Given the description of an element on the screen output the (x, y) to click on. 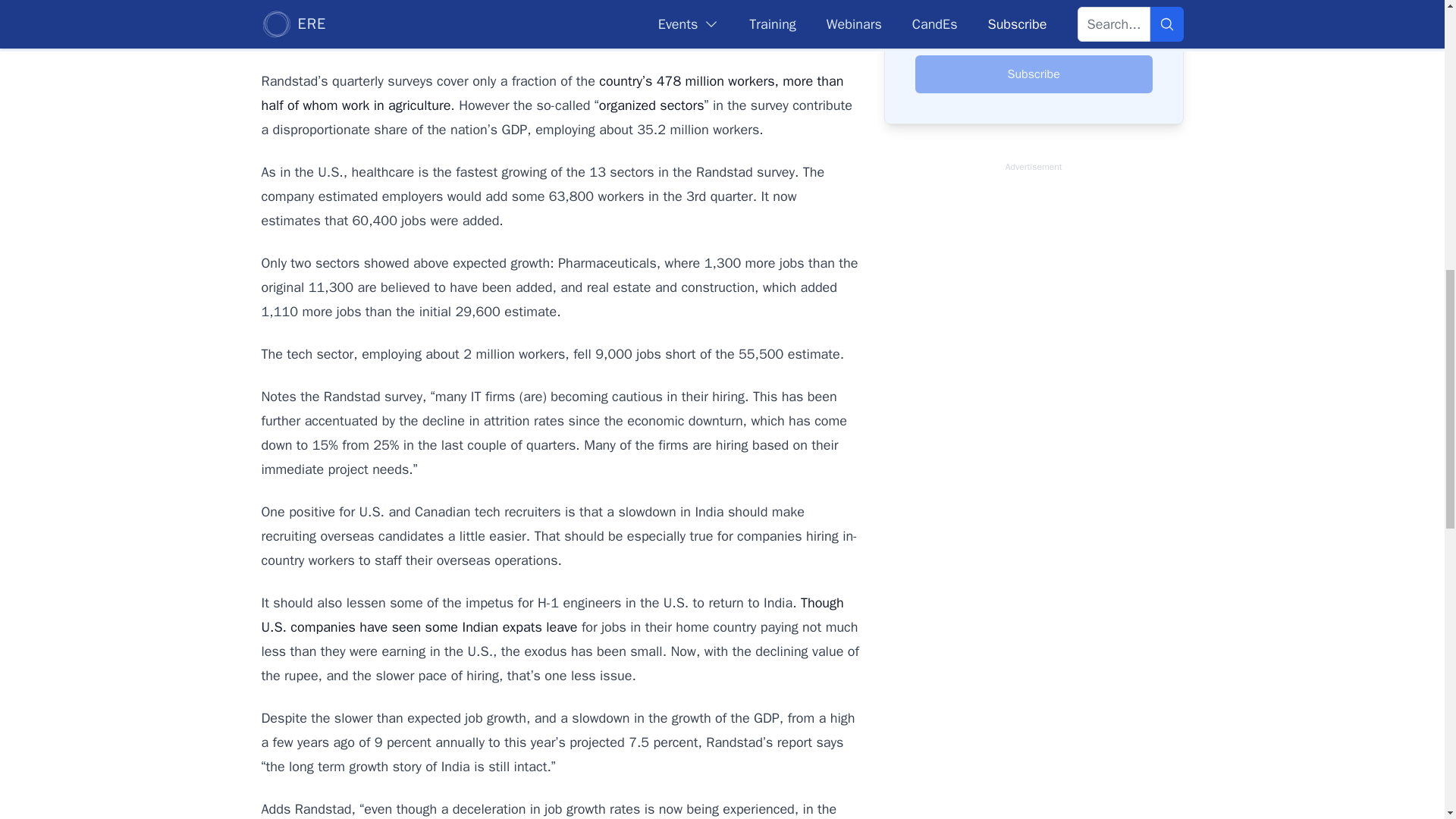
3rd party ad content (1033, 406)
Indian Economy: sluggish but not panicky. (725, 38)
Though U.S. companies have seen some Indian expats leave (551, 614)
organized sectors (651, 105)
